Given the description of an element on the screen output the (x, y) to click on. 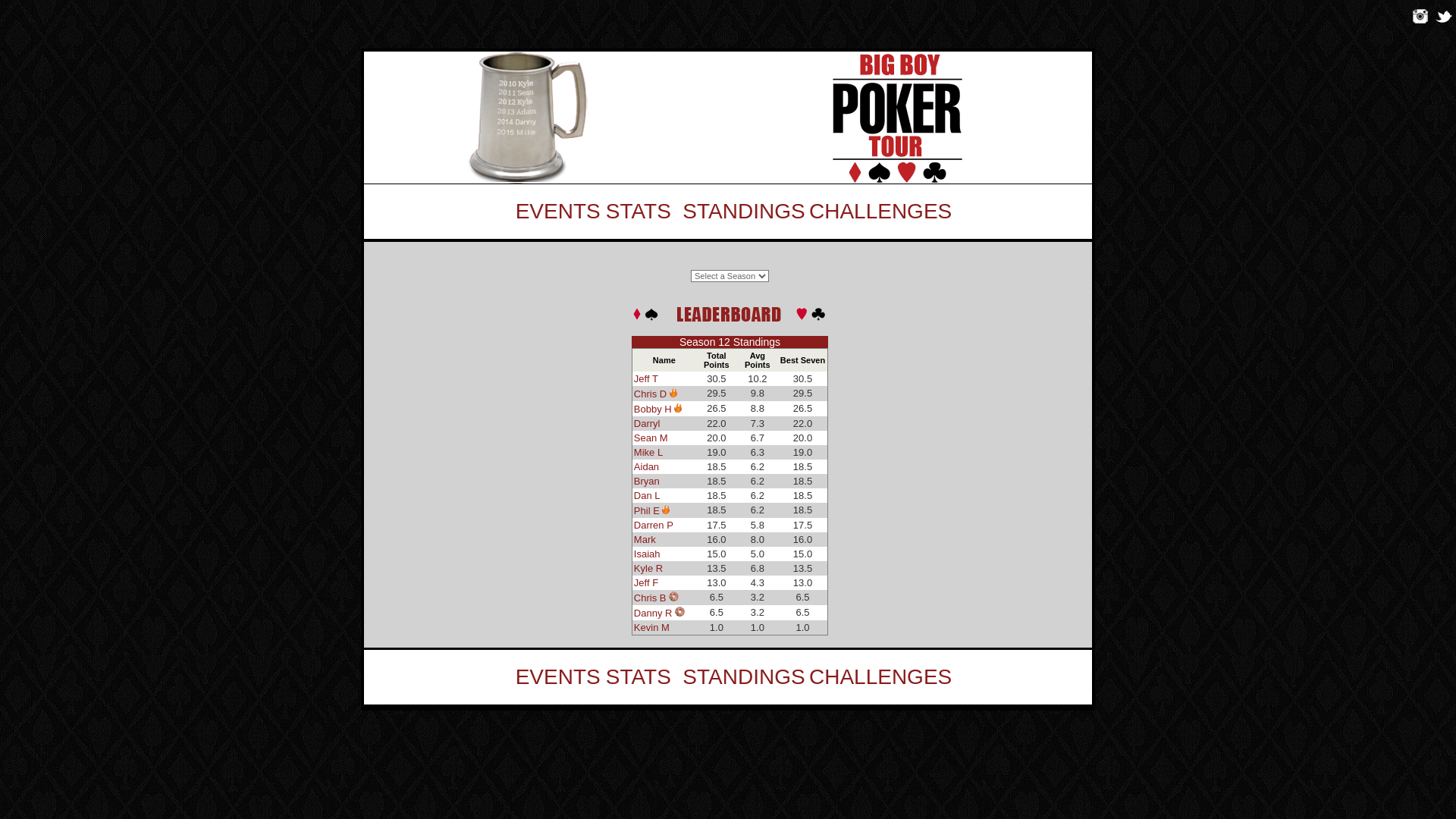
Jeff F Element type: text (645, 582)
Mike L Element type: text (647, 452)
Dan L Element type: text (646, 495)
Darren P Element type: text (653, 524)
Danny R Element type: text (653, 612)
CHALLENGES Element type: text (880, 210)
Chris B Element type: text (650, 597)
Phil E Element type: text (647, 510)
Sean M Element type: text (650, 437)
STATS Element type: text (638, 210)
Bryan Element type: text (646, 480)
Kyle R Element type: text (647, 568)
STATS Element type: text (638, 676)
Kevin M Element type: text (651, 627)
Bobby H Element type: text (653, 408)
Chris D Element type: text (651, 393)
EVENTS Element type: text (558, 210)
Darryl Element type: text (646, 423)
EVENTS Element type: text (558, 676)
STANDINGS Element type: text (743, 676)
Mark Element type: text (644, 539)
STANDINGS Element type: text (743, 210)
CHALLENGES Element type: text (880, 676)
Jeff T Element type: text (645, 378)
Isaiah Element type: text (646, 553)
Aidan Element type: text (645, 466)
